Given the description of an element on the screen output the (x, y) to click on. 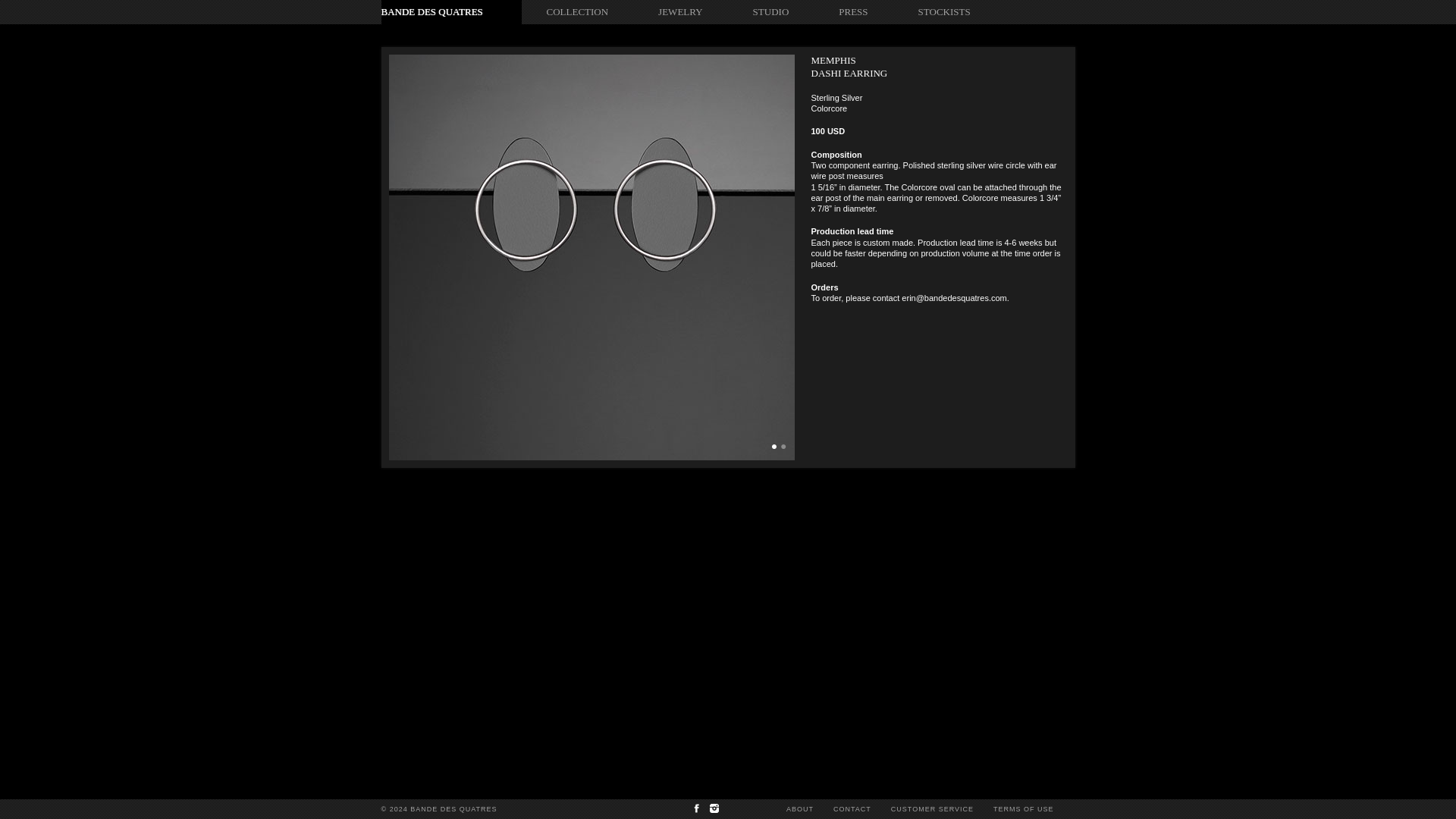
BANDE DES QUATRES (430, 11)
COLLECTION (577, 11)
